Given the description of an element on the screen output the (x, y) to click on. 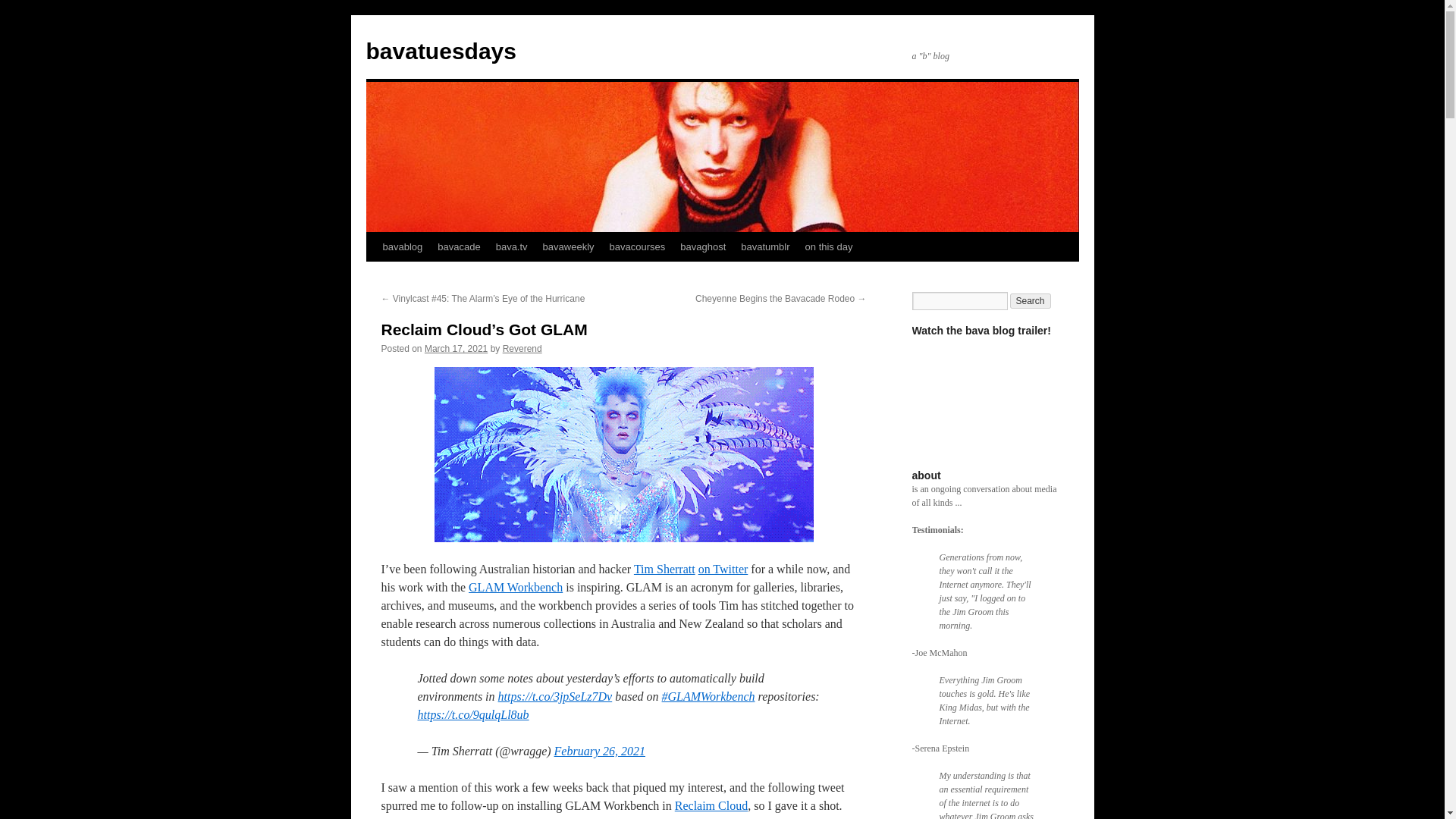
on this day (828, 246)
bavaweekly (568, 246)
February 26, 2021 (599, 750)
bavacade (458, 246)
bavablog (401, 246)
on Twitter (723, 568)
bavaghost (702, 246)
View all posts by Reverend (521, 348)
Reclaim Cloud (711, 805)
10:08 am (456, 348)
